Given the description of an element on the screen output the (x, y) to click on. 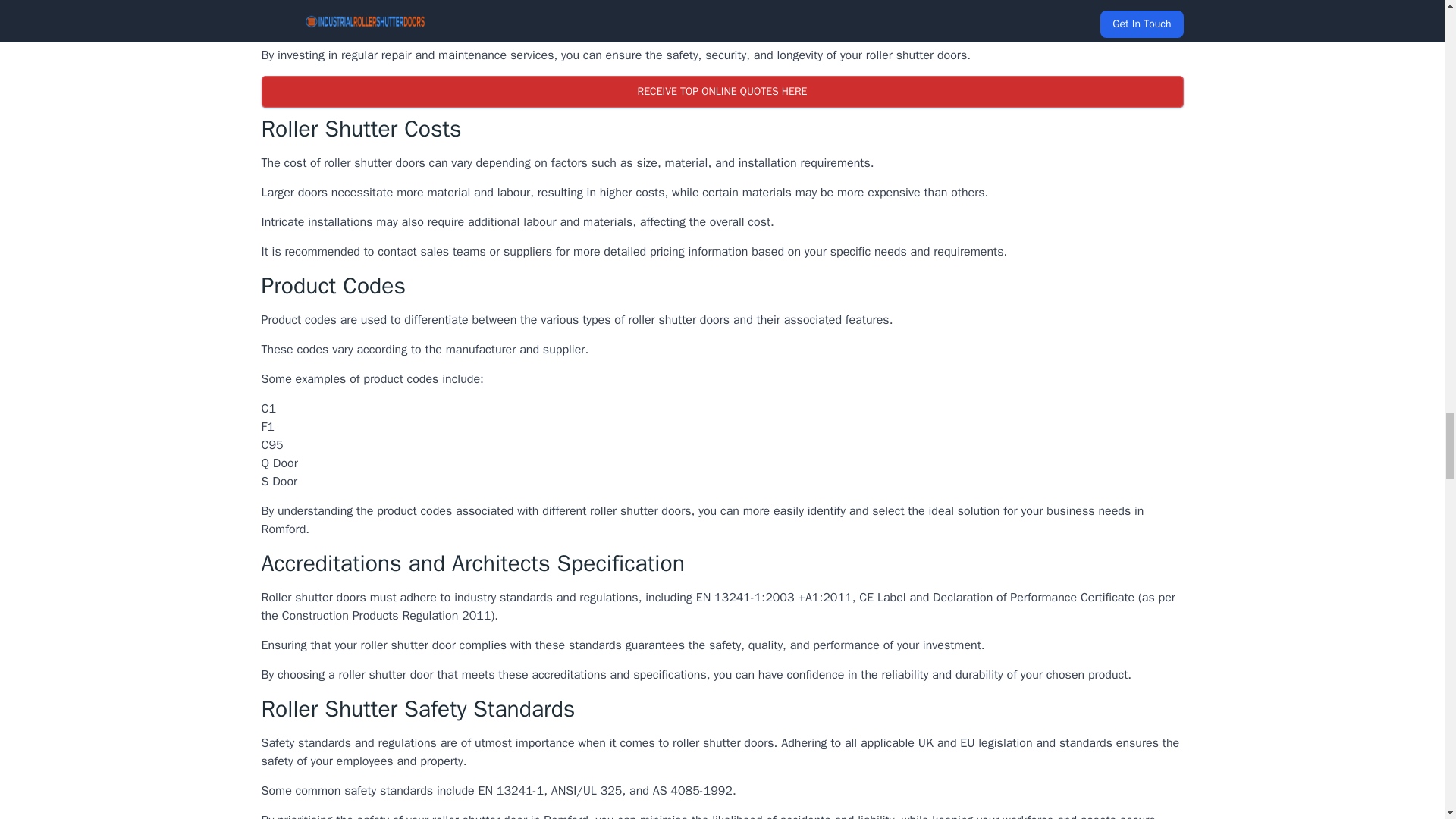
RECEIVE TOP ONLINE QUOTES HERE (721, 91)
